Given the description of an element on the screen output the (x, y) to click on. 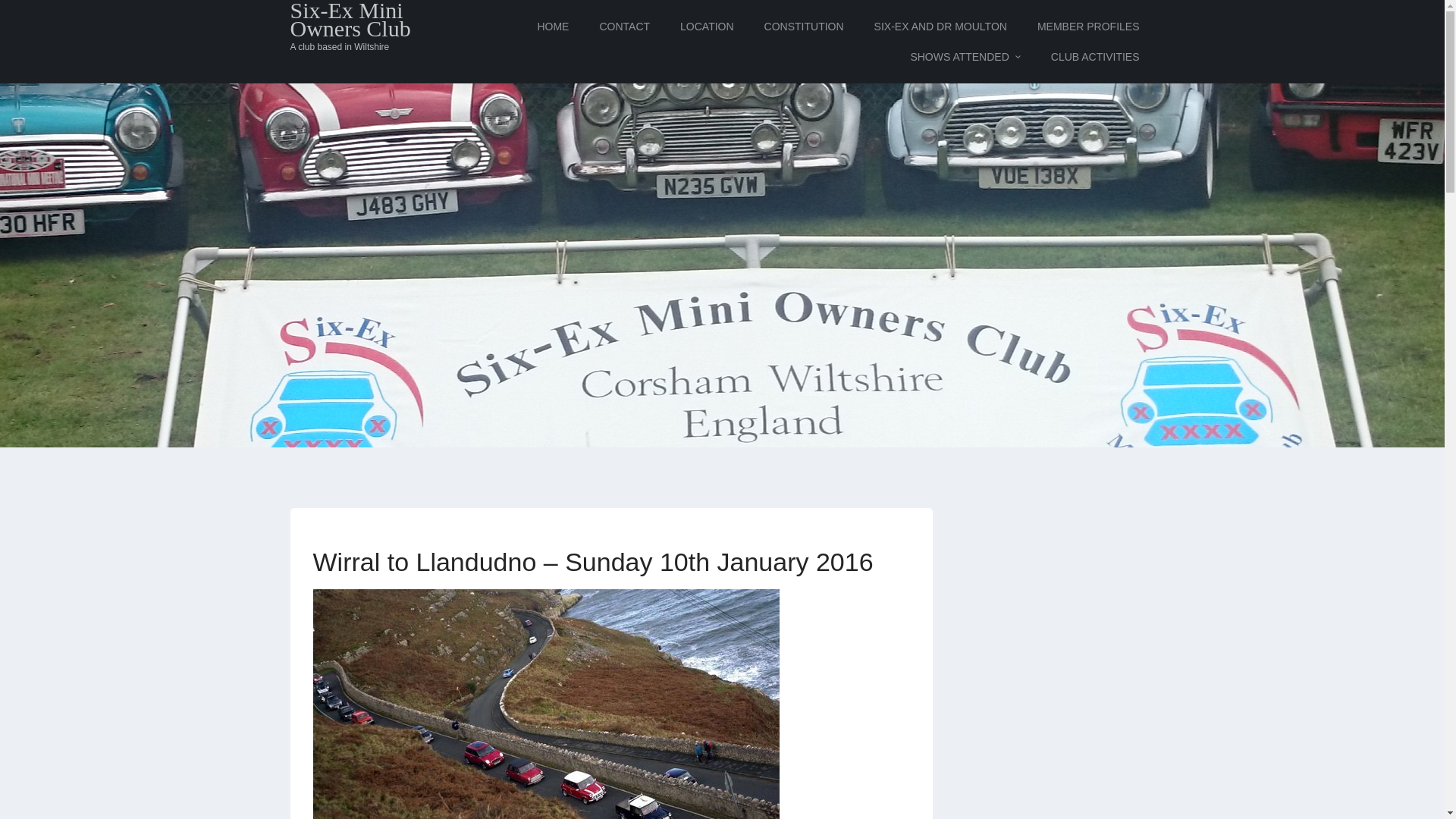
CONSTITUTION (804, 26)
SIX-EX AND DR MOULTON (940, 26)
MEMBER PROFILES (1088, 26)
A club based in Wiltshire (364, 46)
LOCATION (706, 26)
Six-Ex Mini Owners Club - A club based in Wiltshire (364, 19)
HOME (552, 26)
SHOWS ATTENDED (964, 56)
Six-Ex Mini Owners Club (364, 19)
CONTACT (624, 26)
